Given the description of an element on the screen output the (x, y) to click on. 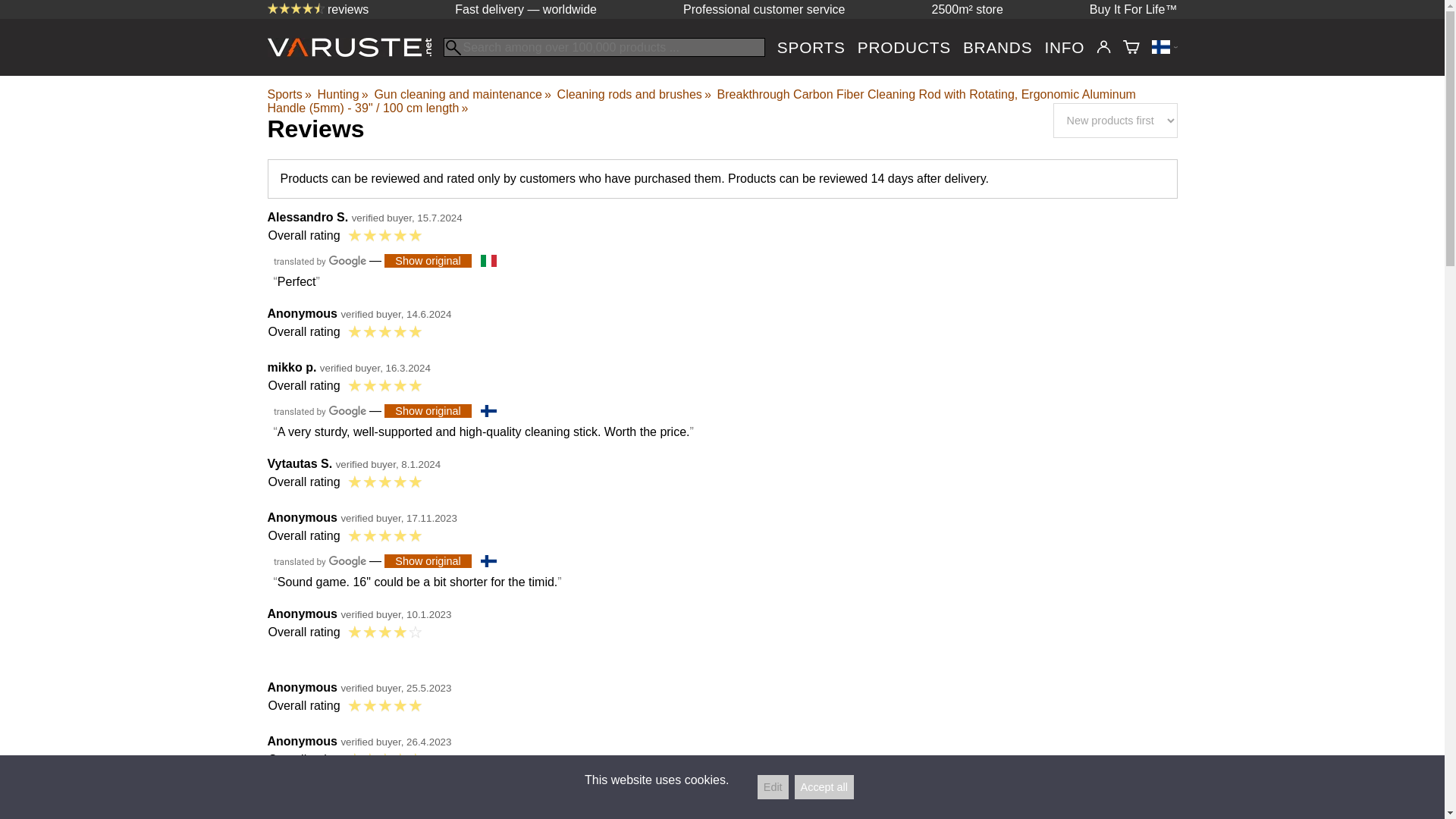
INFO (1063, 46)
Finnish (488, 410)
BRANDS (997, 46)
Finnish (488, 561)
Shopping cart (1131, 46)
Home (354, 51)
Finland (1163, 46)
Professional customer service (763, 9)
PRODUCTS (903, 46)
Italian (488, 260)
